Given the description of an element on the screen output the (x, y) to click on. 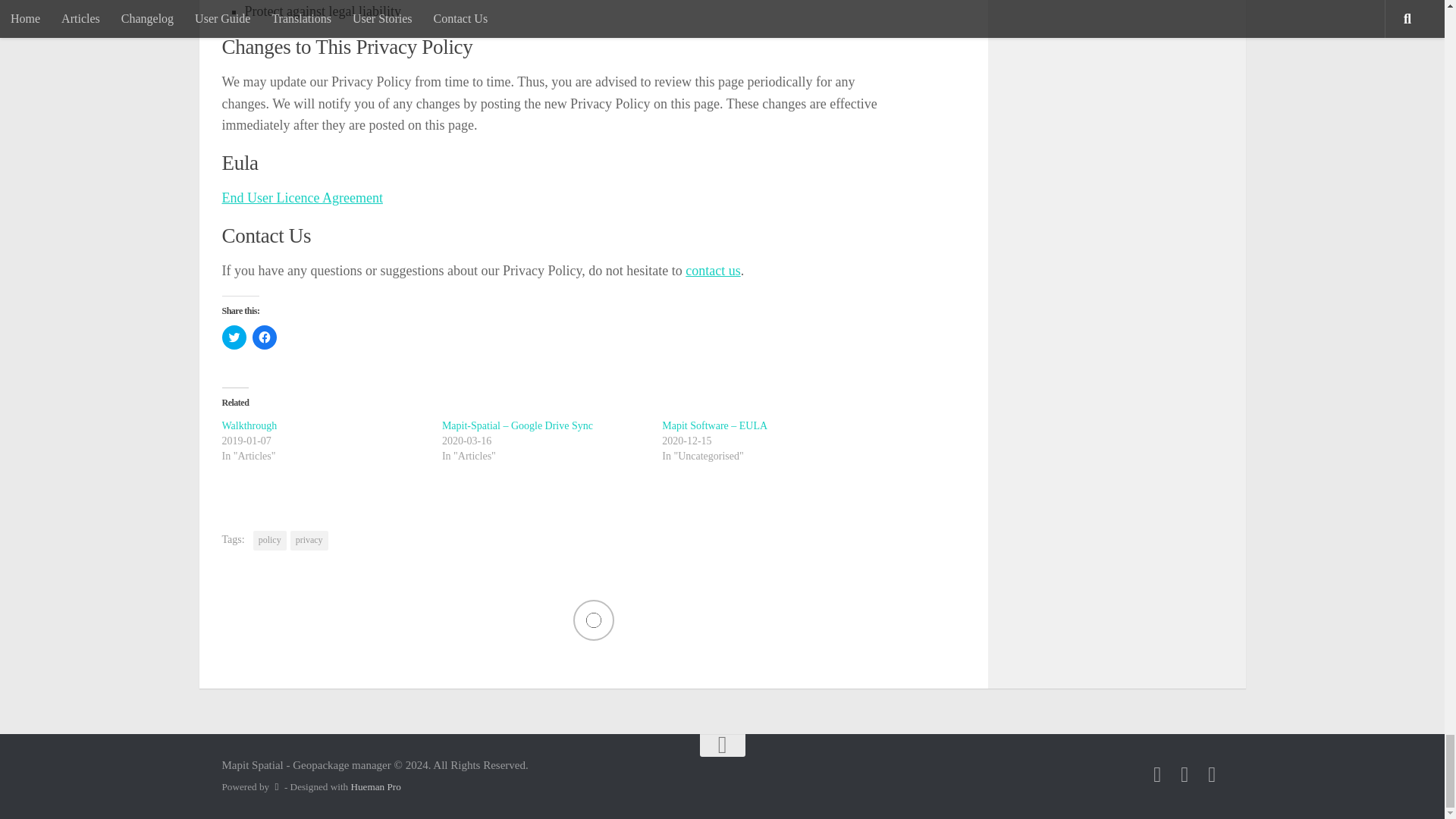
Powered by WordPress (275, 786)
contact us (712, 270)
End User Licence Agreement (301, 197)
Click to share on Twitter (233, 337)
Click to share on Facebook (263, 337)
Walkthrough (248, 425)
